Given the description of an element on the screen output the (x, y) to click on. 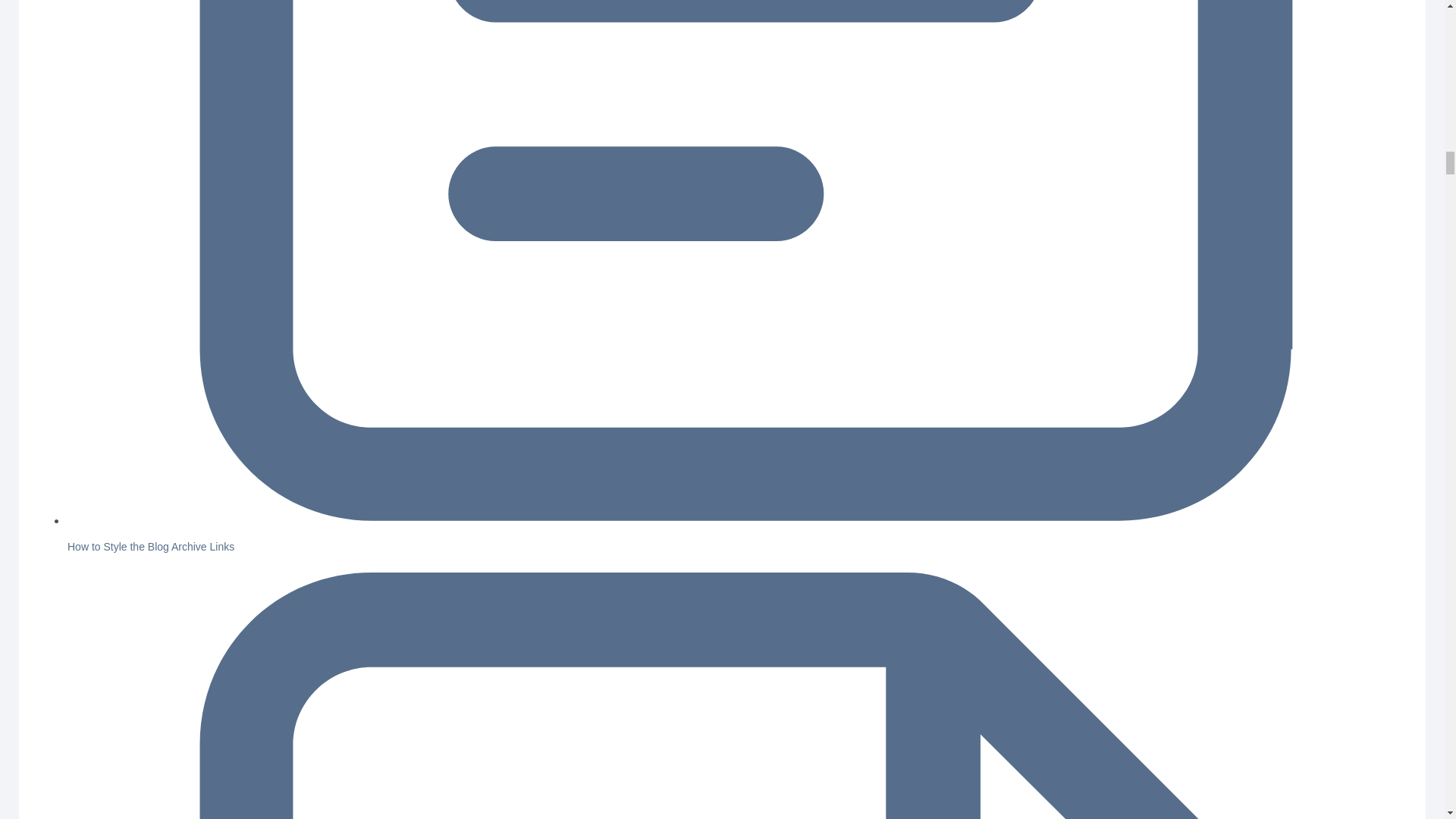
How to Style the Blog Archive Links (150, 546)
